Given the description of an element on the screen output the (x, y) to click on. 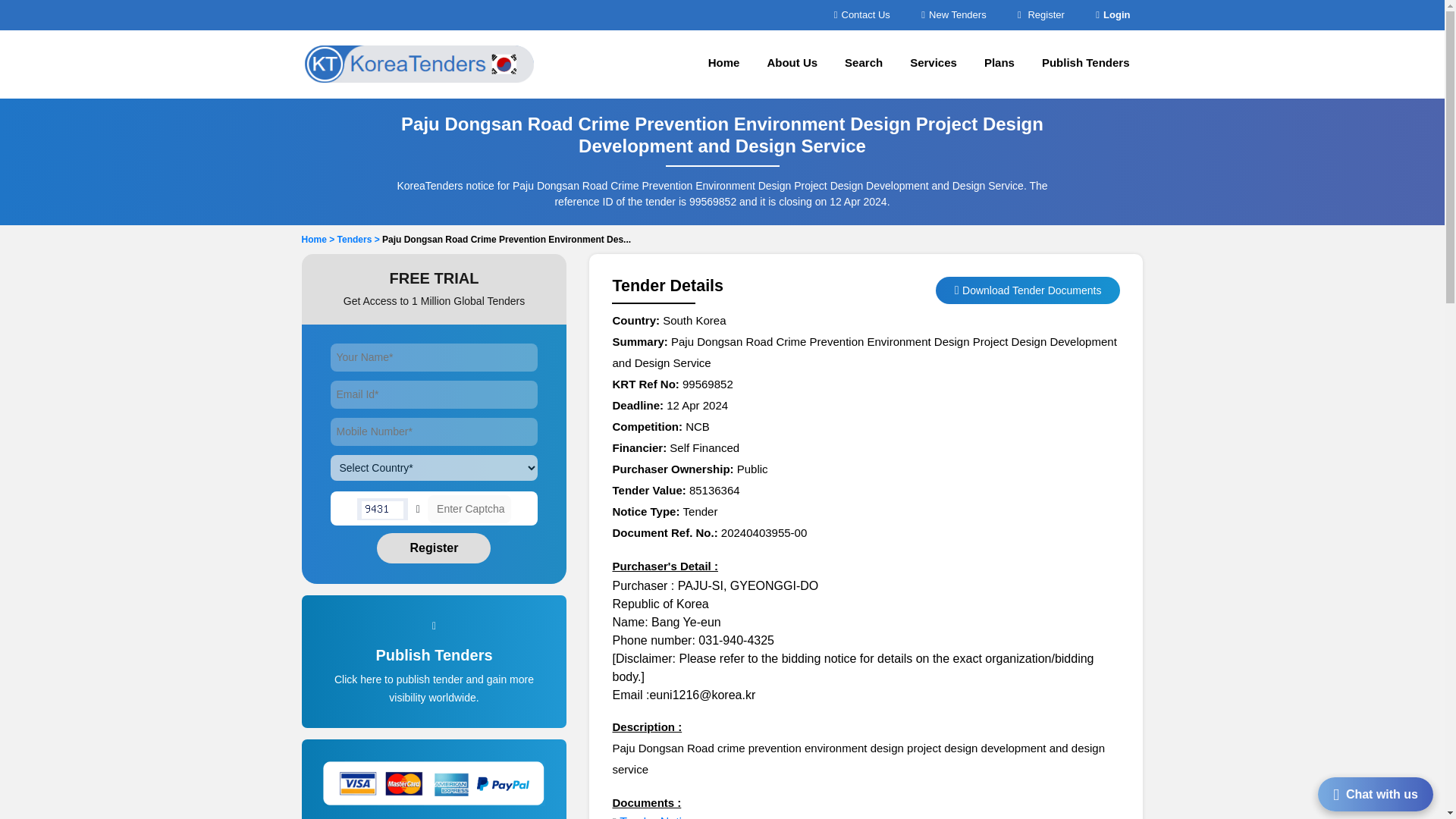
Publish Tenders (1084, 64)
New Tenders (953, 14)
Login (1112, 14)
Services (933, 64)
About Us (791, 64)
Plans (999, 64)
Download Tender Documents (1031, 290)
Register (1040, 14)
Search (863, 64)
